Given the description of an element on the screen output the (x, y) to click on. 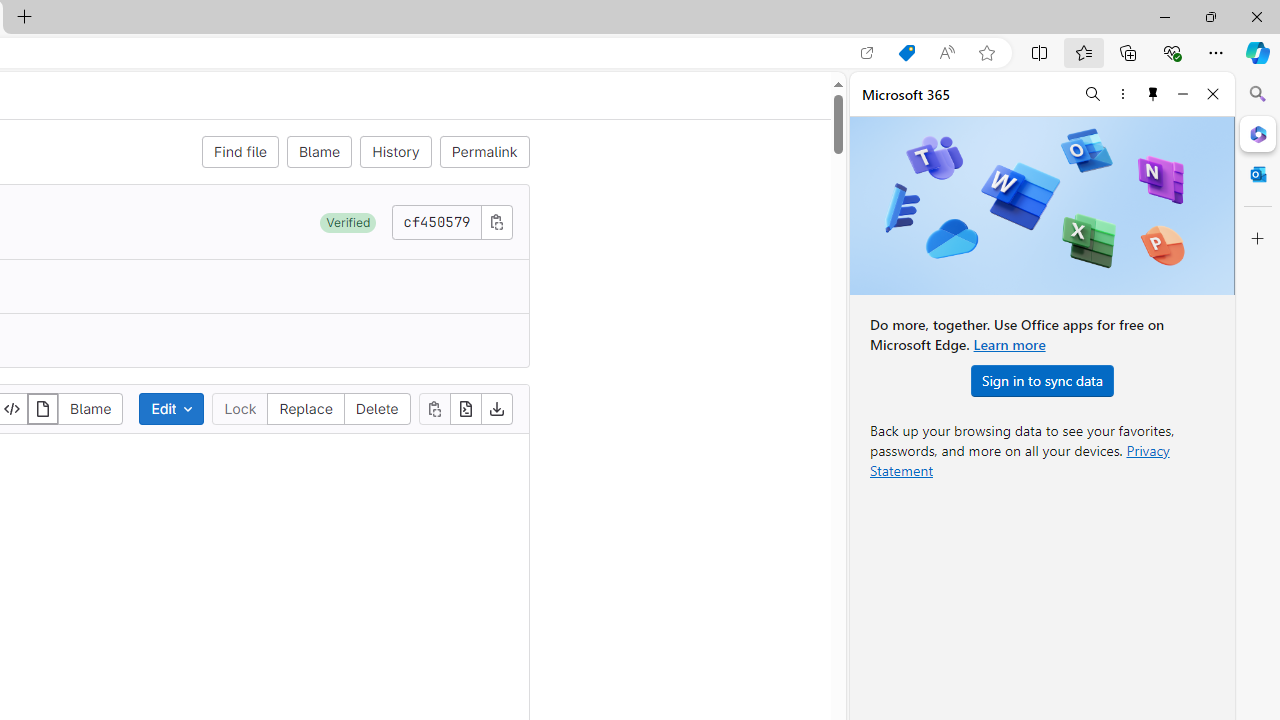
Delete (376, 408)
Sign in to sync data (1042, 380)
Blame (319, 151)
Copy file contents (434, 408)
Class: s16 gl-icon gl-button-icon  (496, 221)
Copy commit SHA (496, 221)
Verified (348, 221)
Learn more about Microsoft Office. (1008, 344)
Open raw (465, 408)
